Given the description of an element on the screen output the (x, y) to click on. 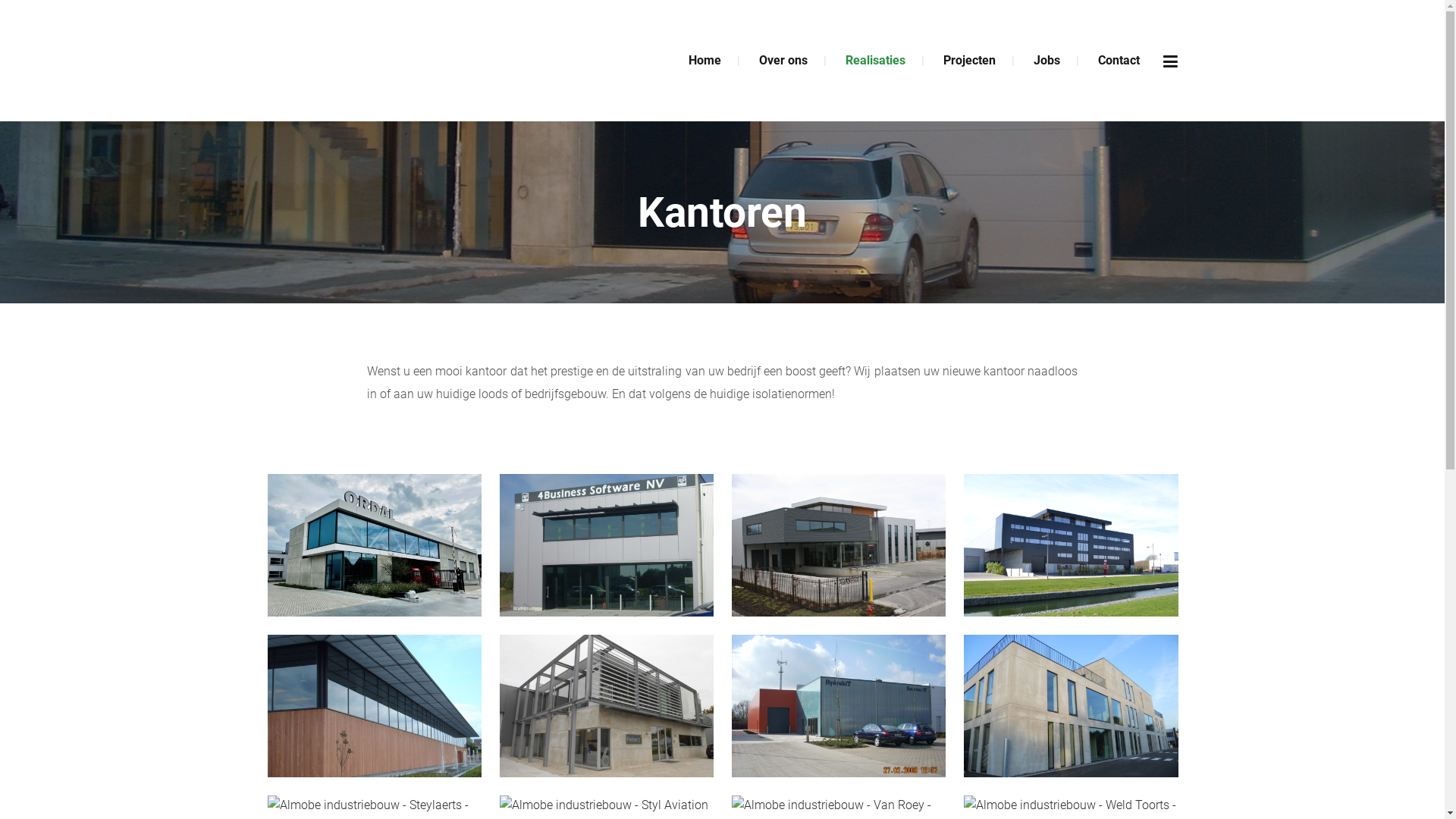
Jobs Element type: text (1046, 60)
Realisaties Element type: text (875, 60)
Home Element type: text (703, 60)
Contact Element type: text (1117, 60)
Almobe industriebouw - Atraxion - Aartselaar Element type: hover (838, 545)
Almobe industriebouw - Hebeco - Kapellen Element type: hover (606, 706)
Projecten Element type: text (968, 60)
Ordal 16 Augustus 2022 (1) Element type: hover (373, 545)
Almobe industriebouw - Credophar - Lier Element type: hover (1070, 545)
Almobe industriebouw - 4Business - Duffel Element type: hover (606, 545)
Over ons Element type: text (783, 60)
Almobe industriebouw - Ethnicraft - Boom Element type: hover (373, 706)
Almobe industriebouw - Hydrokit - Lier Element type: hover (838, 706)
Almobe industriebouw - Mawipex Elipse - Schoten Element type: hover (1070, 706)
